Given the description of an element on the screen output the (x, y) to click on. 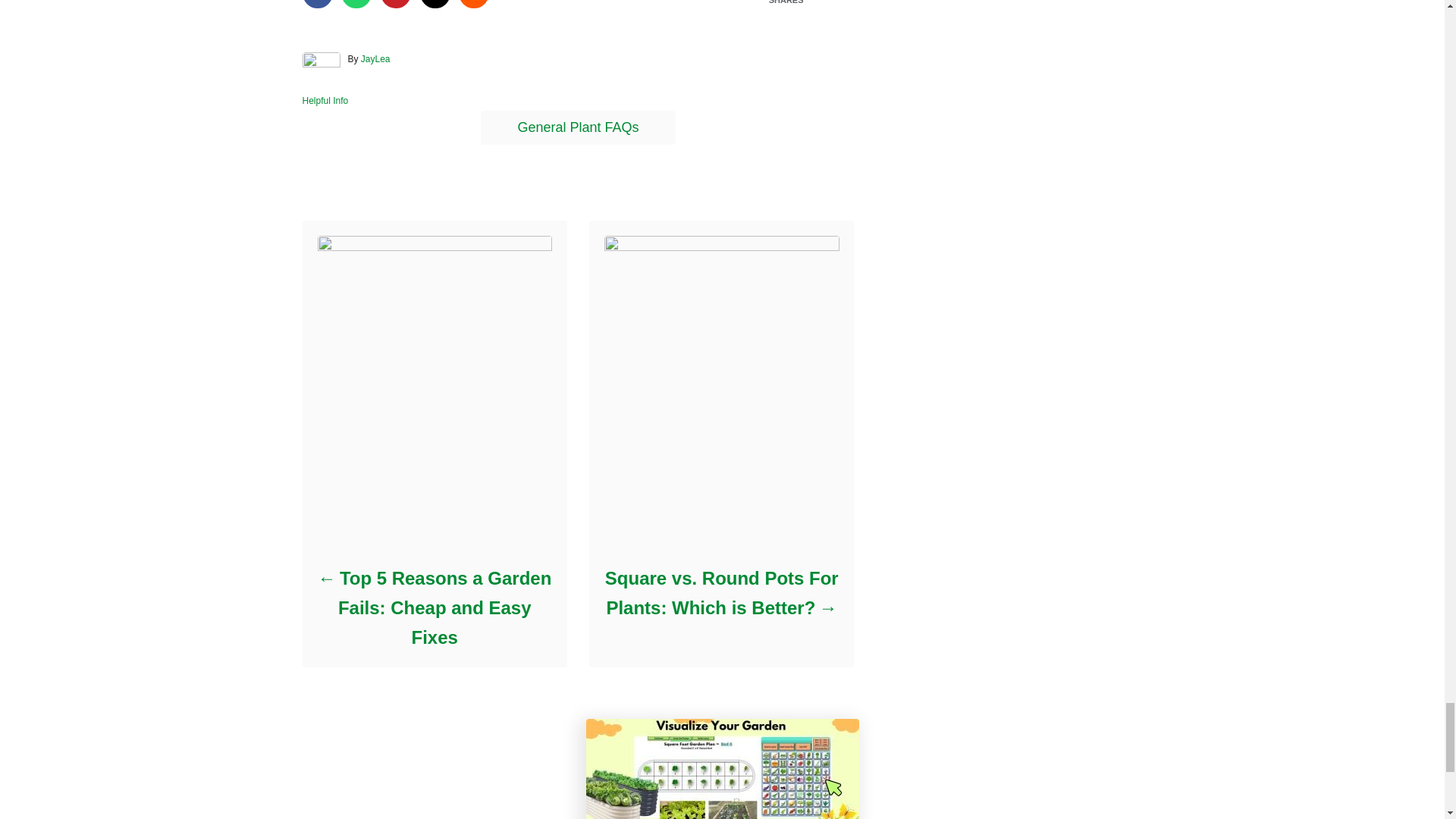
Helpful Info (324, 100)
Square vs. Round Pots For Plants: Which is Better? (721, 592)
General Plant FAQs (577, 127)
Top 5 Reasons a Garden Fails: Cheap and Easy Fixes (434, 607)
JayLea (375, 59)
